Given the description of an element on the screen output the (x, y) to click on. 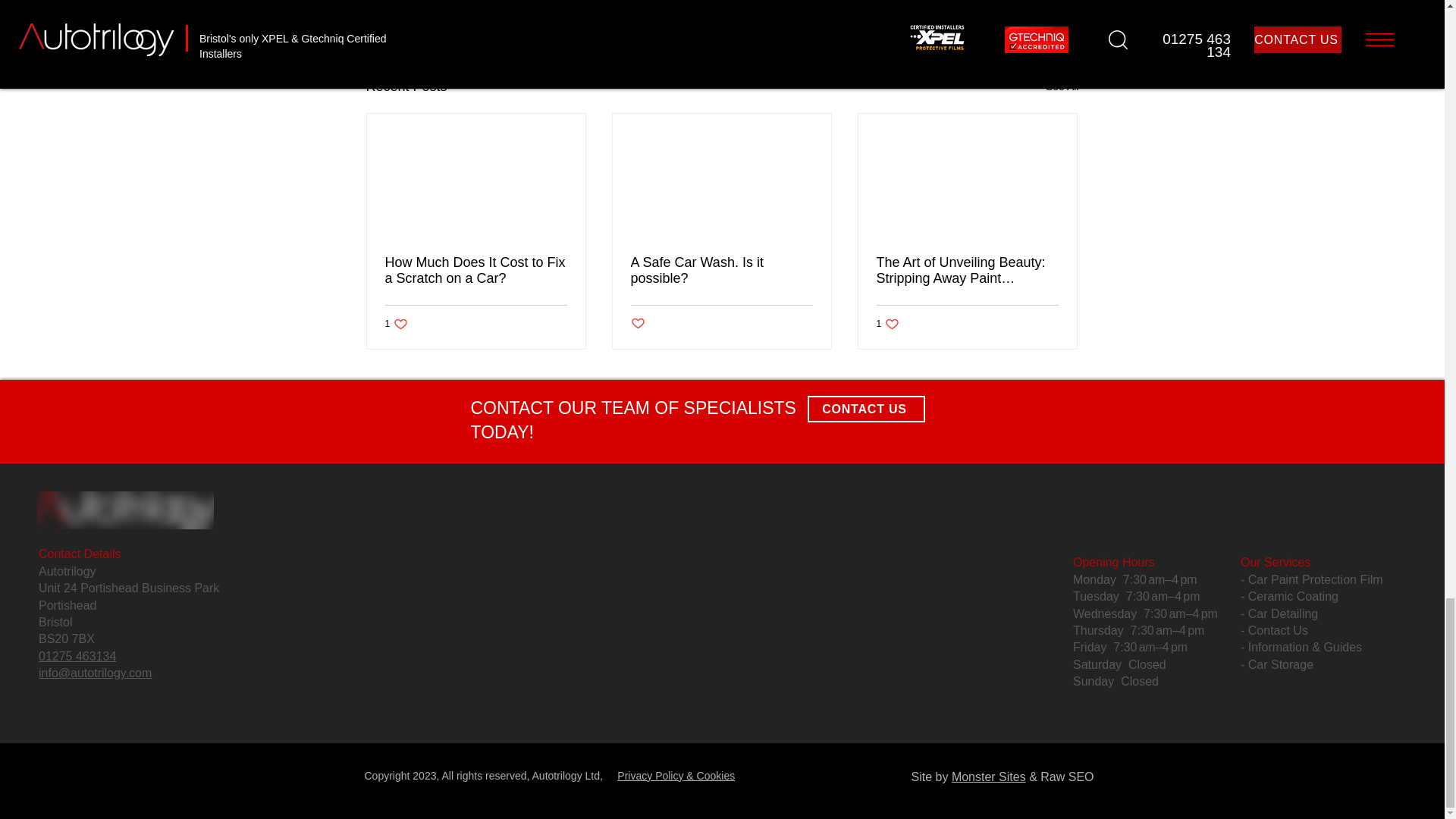
See All (1061, 86)
How Much Does It Cost to Fix a Scratch on a Car? (476, 270)
A Safe Car Wash. Is it possible? (990, 6)
